Given the description of an element on the screen output the (x, y) to click on. 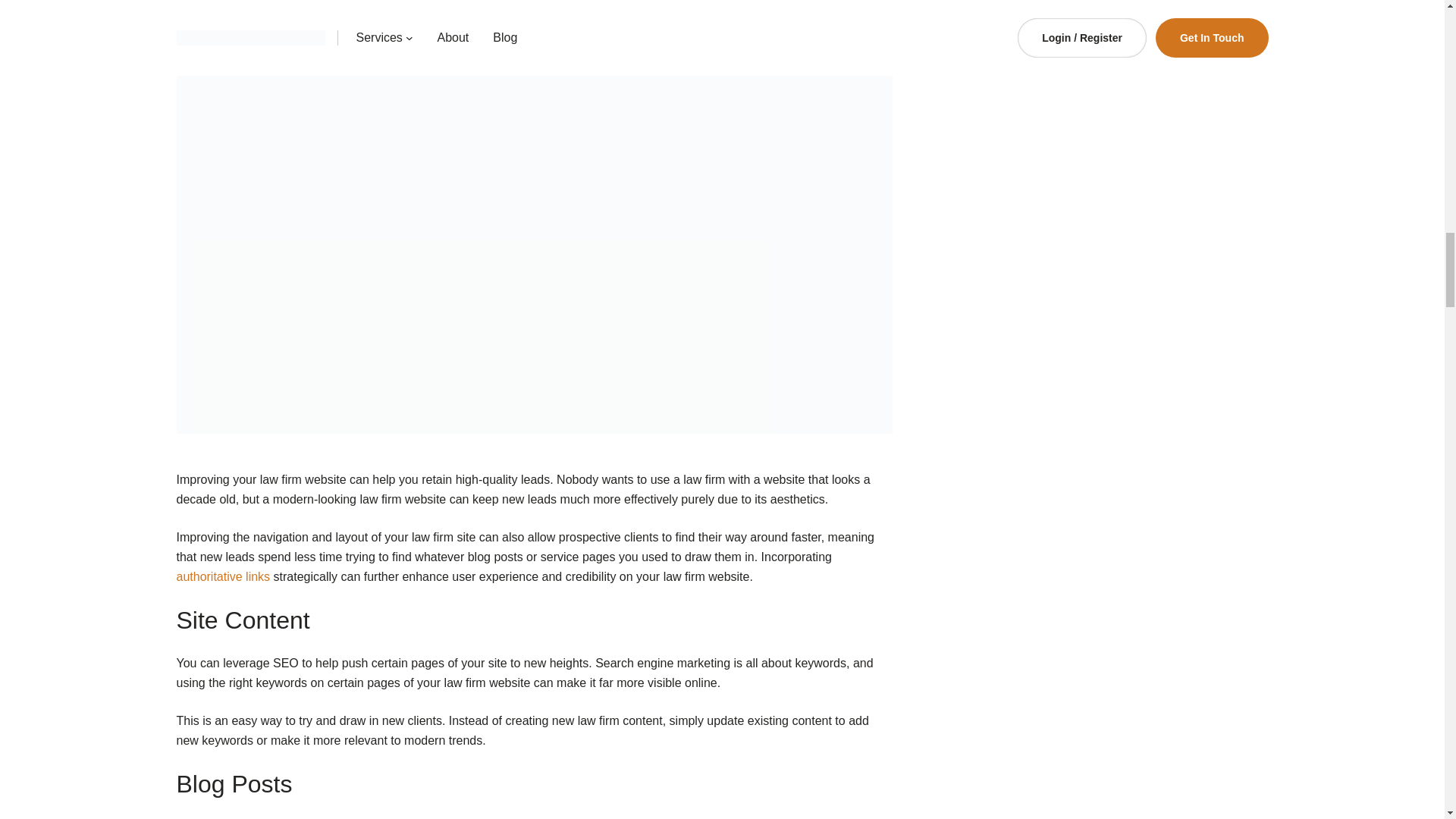
authoritative links (222, 576)
